Given the description of an element on the screen output the (x, y) to click on. 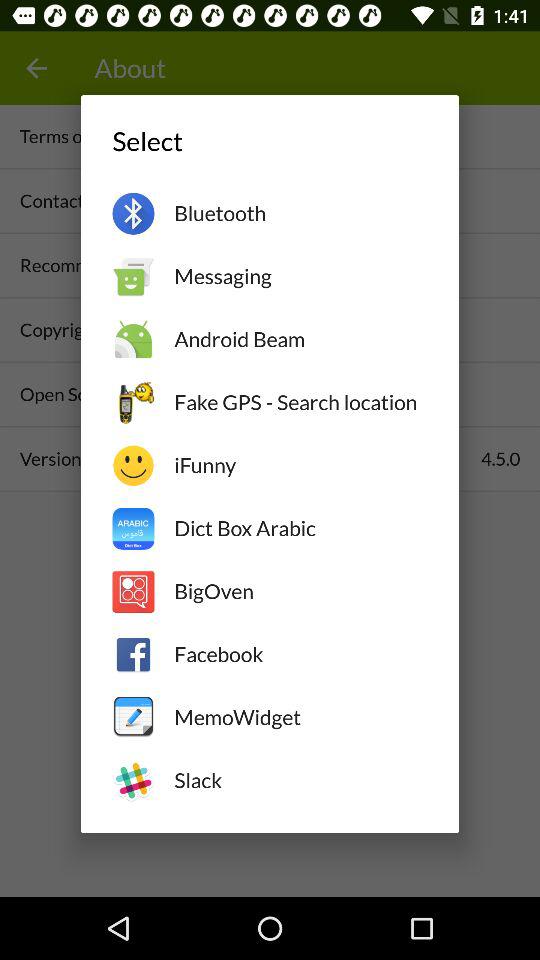
scroll to fake gps search icon (300, 402)
